Given the description of an element on the screen output the (x, y) to click on. 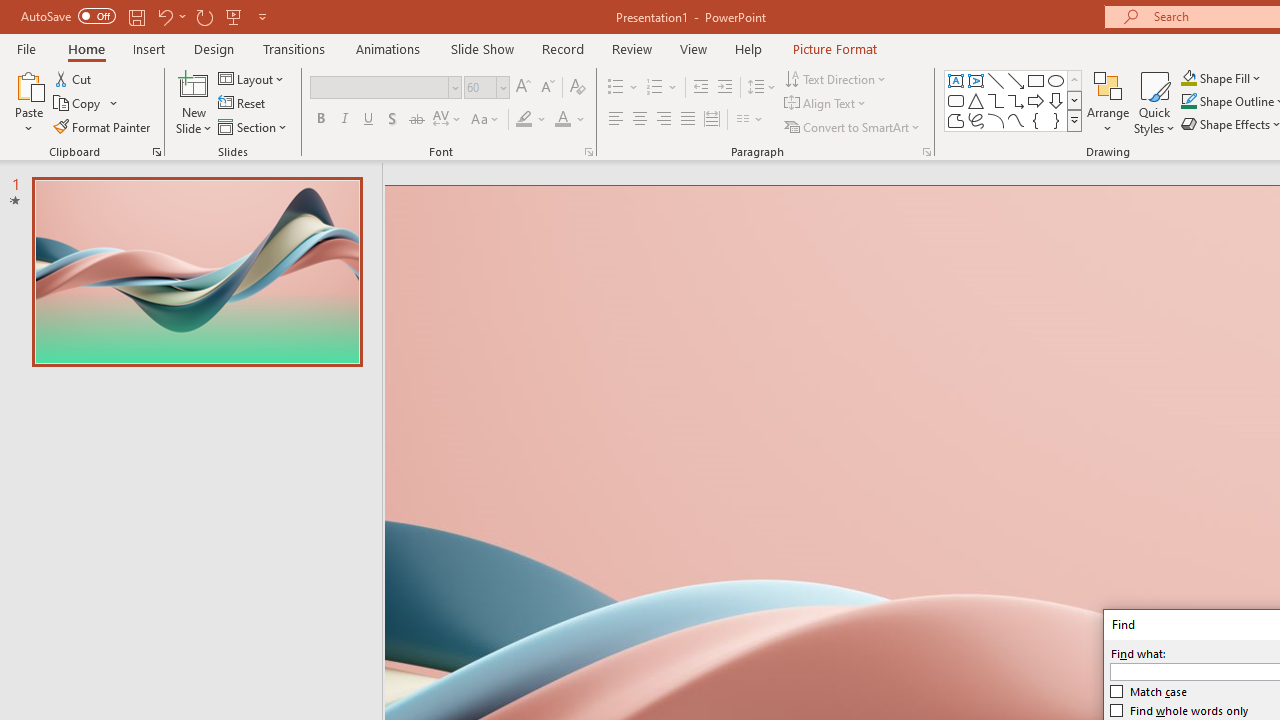
Text Direction (836, 78)
Italic (344, 119)
Freeform: Scribble (975, 120)
Shadow (392, 119)
Section (254, 126)
Connector: Elbow Arrow (1016, 100)
Increase Font Size (522, 87)
Shape Outline Blue, Accent 1 (1188, 101)
Isosceles Triangle (975, 100)
